Given the description of an element on the screen output the (x, y) to click on. 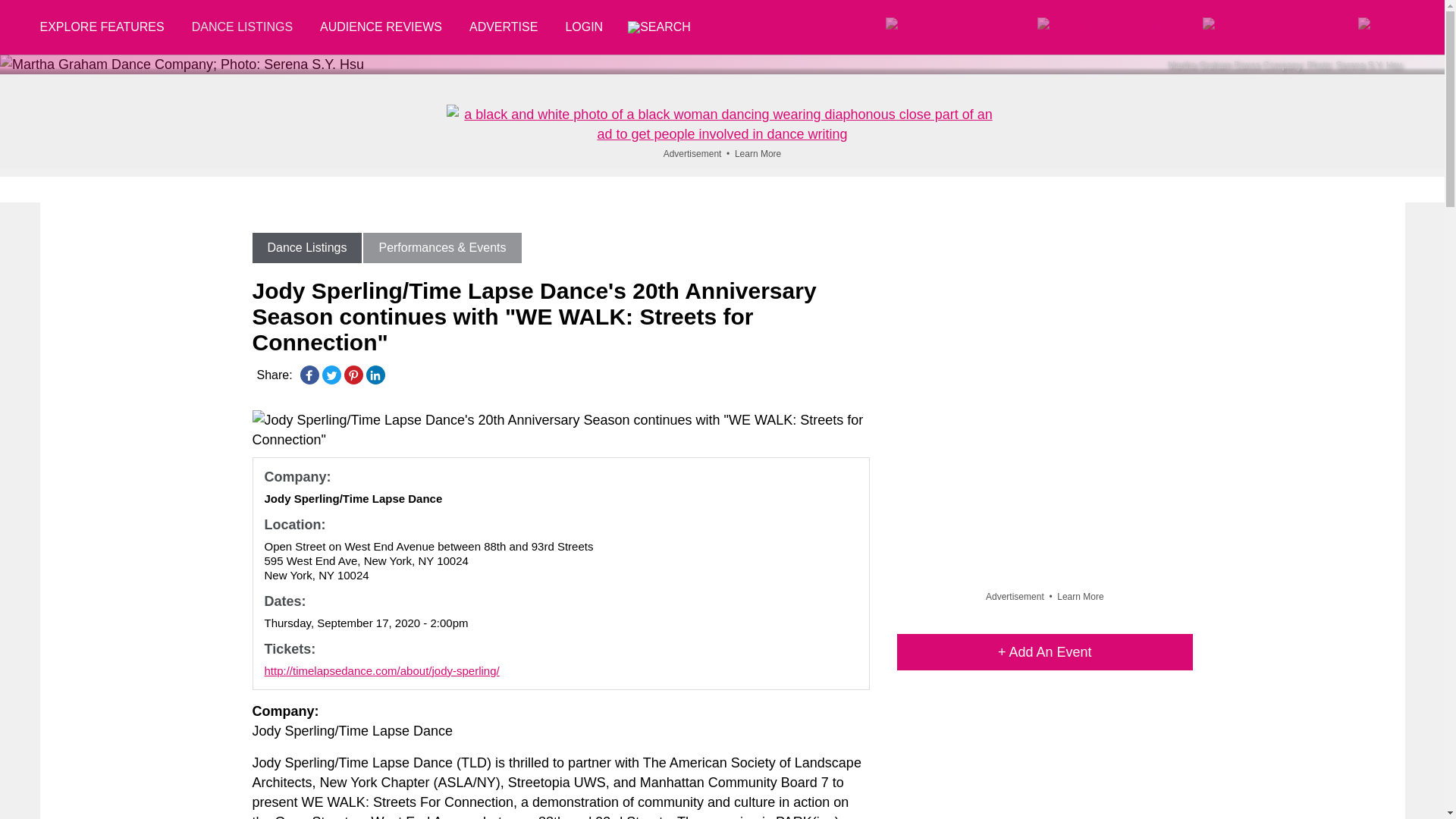
AUDIENCE REVIEWS (380, 27)
LOGIN (583, 27)
EXPLORE FEATURES (108, 27)
Facebook (309, 374)
Twitter (331, 374)
DANCE LISTINGS (241, 27)
ADVERTISE (503, 27)
Pinterest (353, 374)
LinkedIn (375, 374)
